Given the description of an element on the screen output the (x, y) to click on. 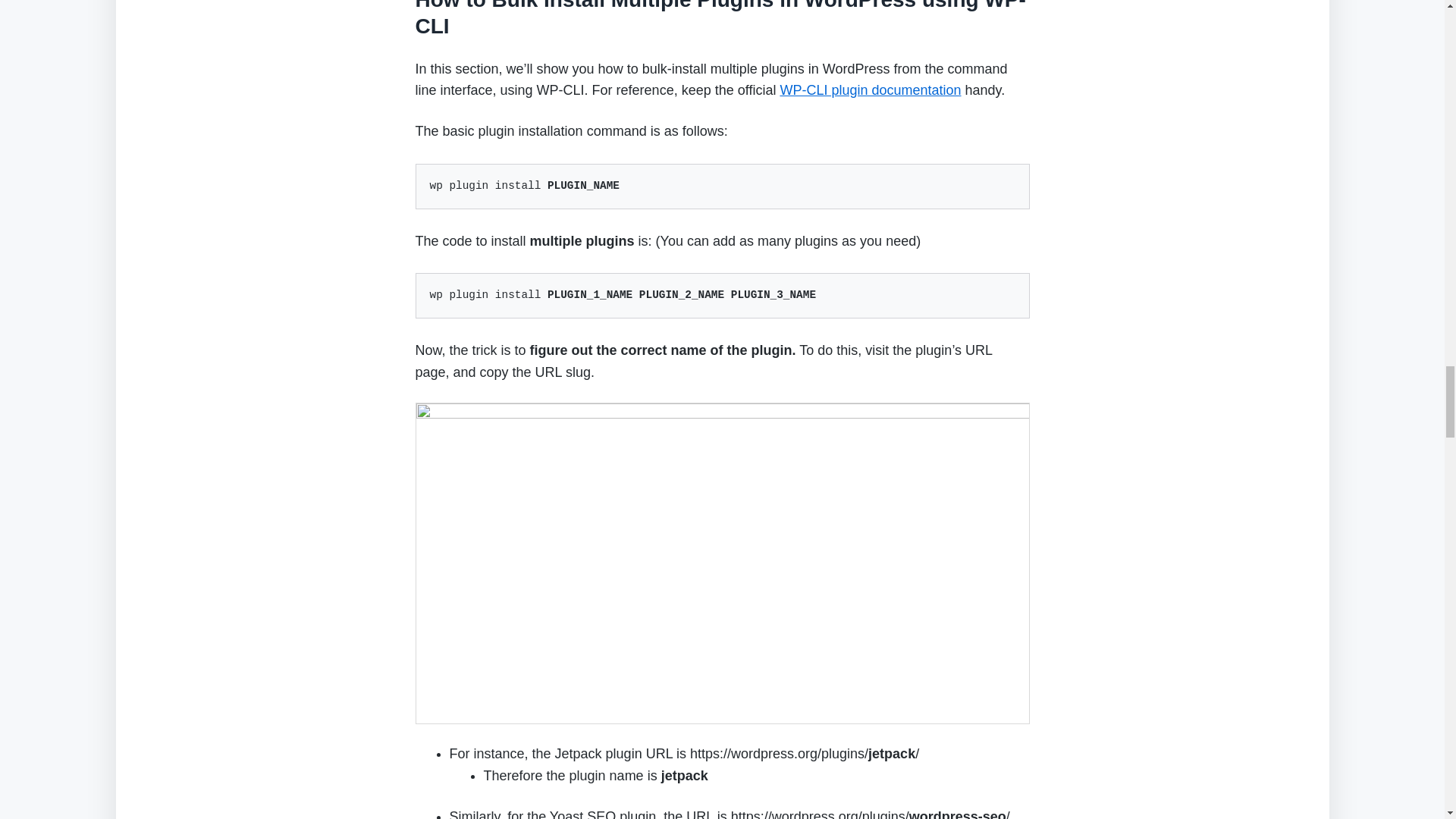
WP-CLI plugin documentation (869, 89)
